Given the description of an element on the screen output the (x, y) to click on. 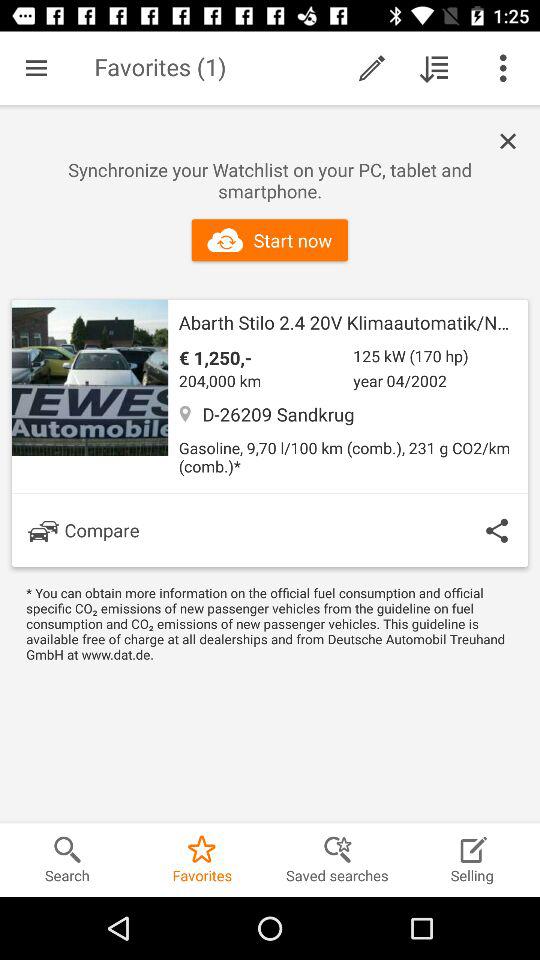
close listing (513, 141)
